Given the description of an element on the screen output the (x, y) to click on. 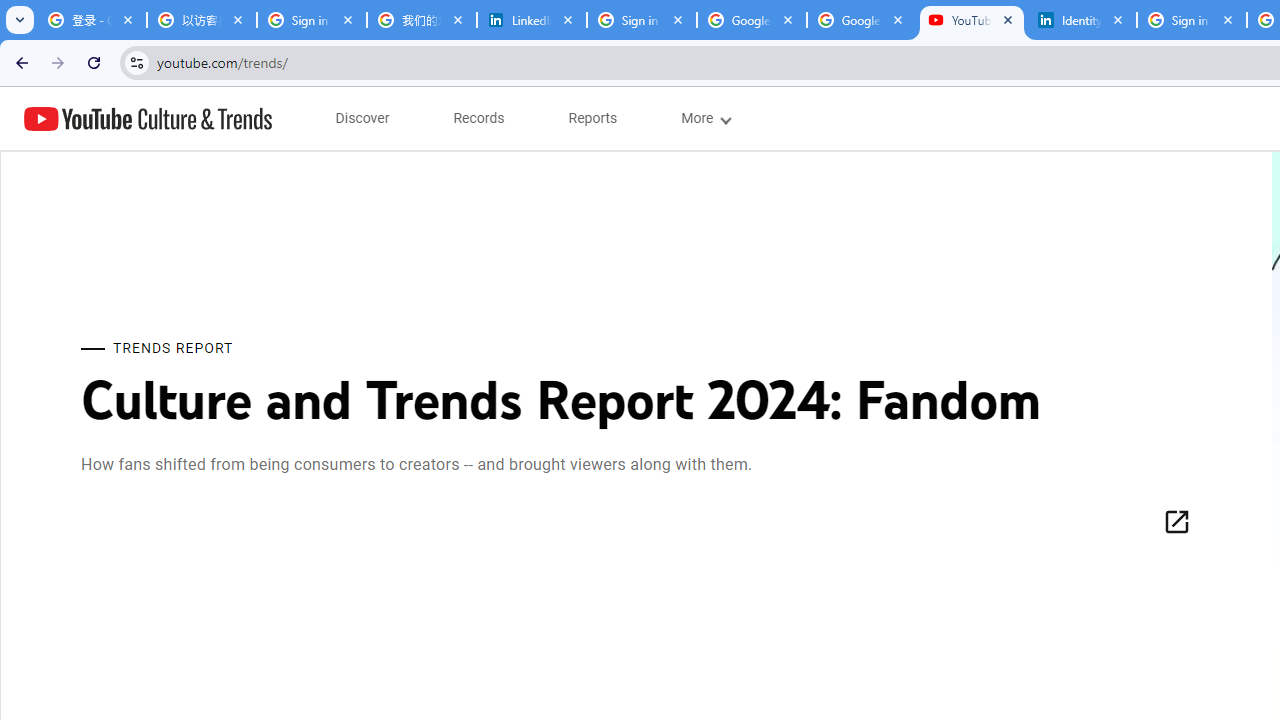
subnav-Records menupopup (479, 118)
JUMP TO CONTENT (209, 119)
subnav-More menupopup (704, 118)
Sign in - Google Accounts (312, 20)
subnav-Records menupopup (479, 118)
Sign in - Google Accounts (1191, 20)
